Given the description of an element on the screen output the (x, y) to click on. 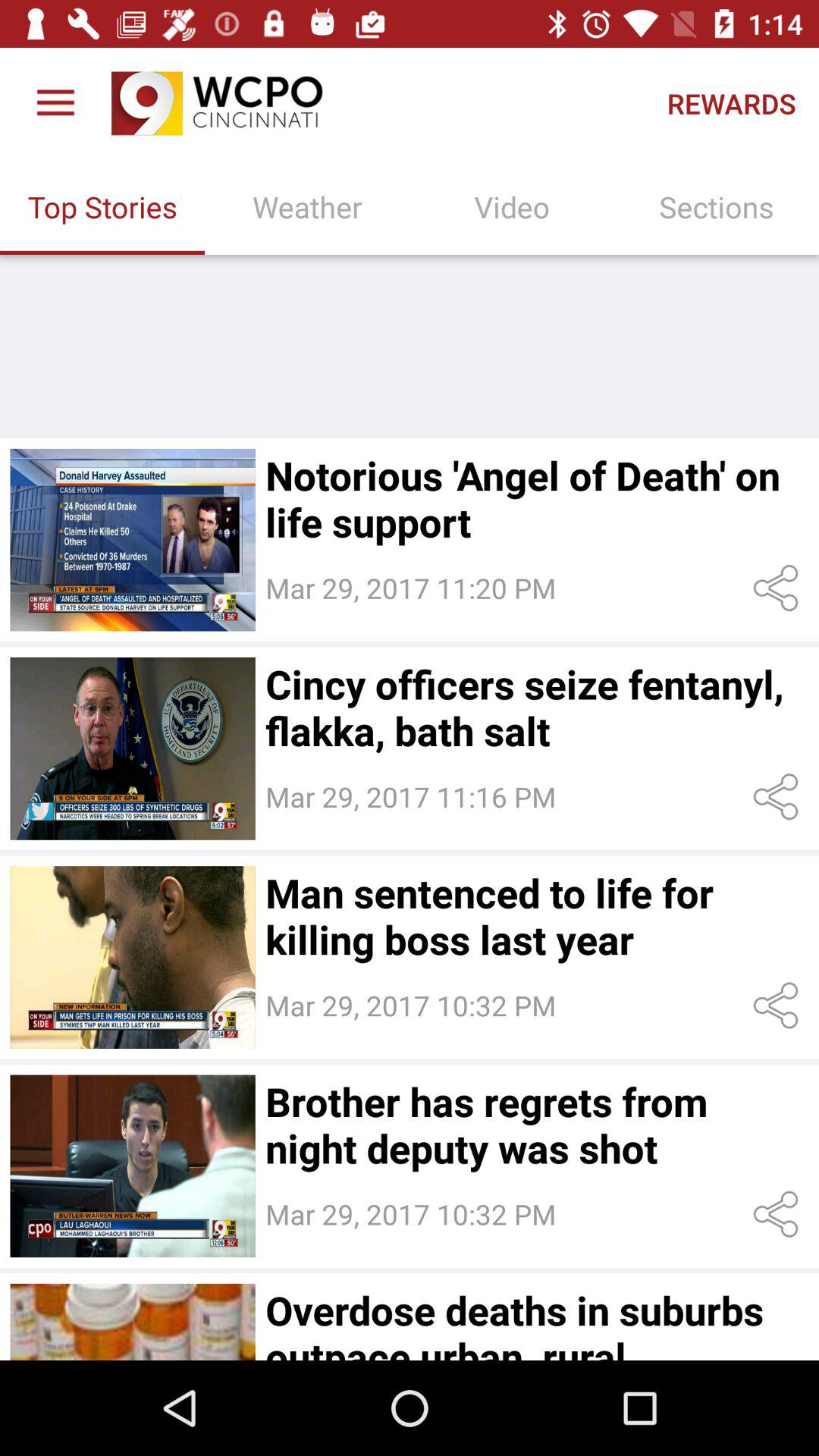
select video (132, 1165)
